Given the description of an element on the screen output the (x, y) to click on. 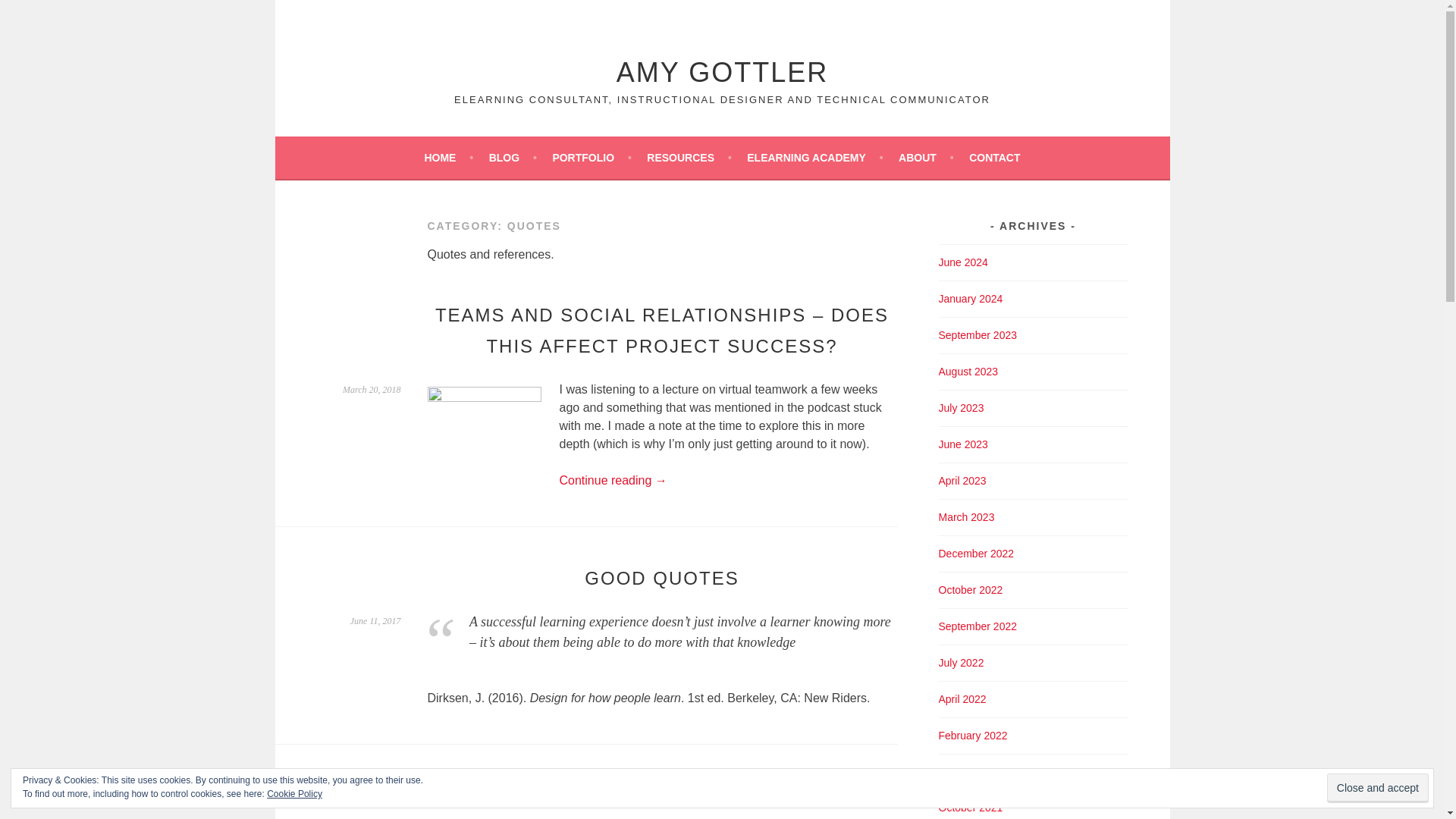
ABOUT (925, 157)
ELEARNING ACADEMY (814, 157)
October 2022 (971, 589)
GOOD QUOTES (661, 578)
July 2023 (961, 408)
CONTACT (994, 157)
Close and accept (1377, 788)
March 20, 2018 (371, 389)
BLOG (513, 157)
AMY GOTTLER (721, 71)
